Given the description of an element on the screen output the (x, y) to click on. 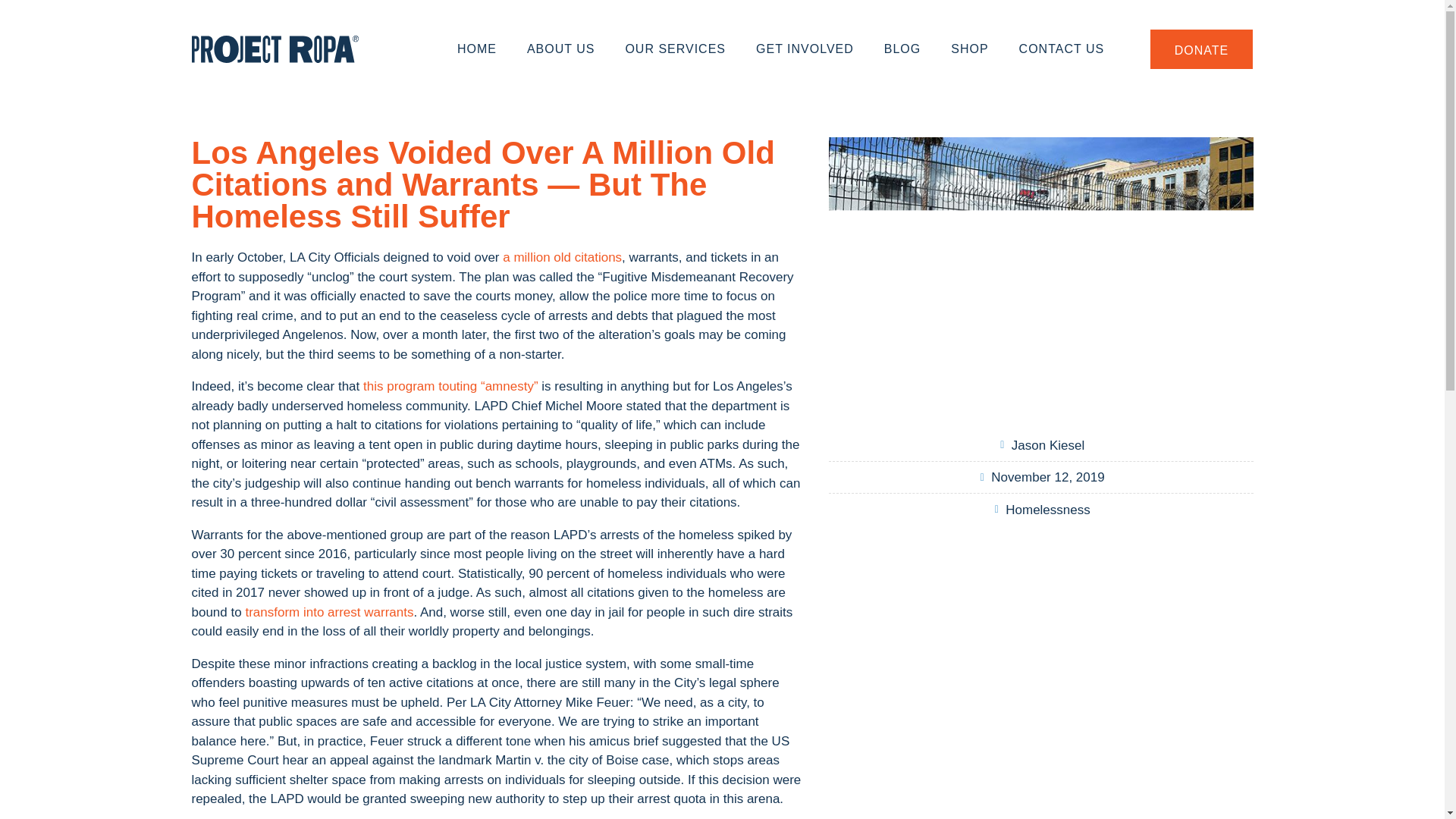
ABOUT US (561, 48)
Blog (902, 48)
CONTACT US (1061, 48)
DONATE (1201, 48)
Get Involved (805, 48)
SHOP (969, 48)
GET INVOLVED (805, 48)
OUR SERVICES (675, 48)
Home (477, 48)
Our Services (675, 48)
